Given the description of an element on the screen output the (x, y) to click on. 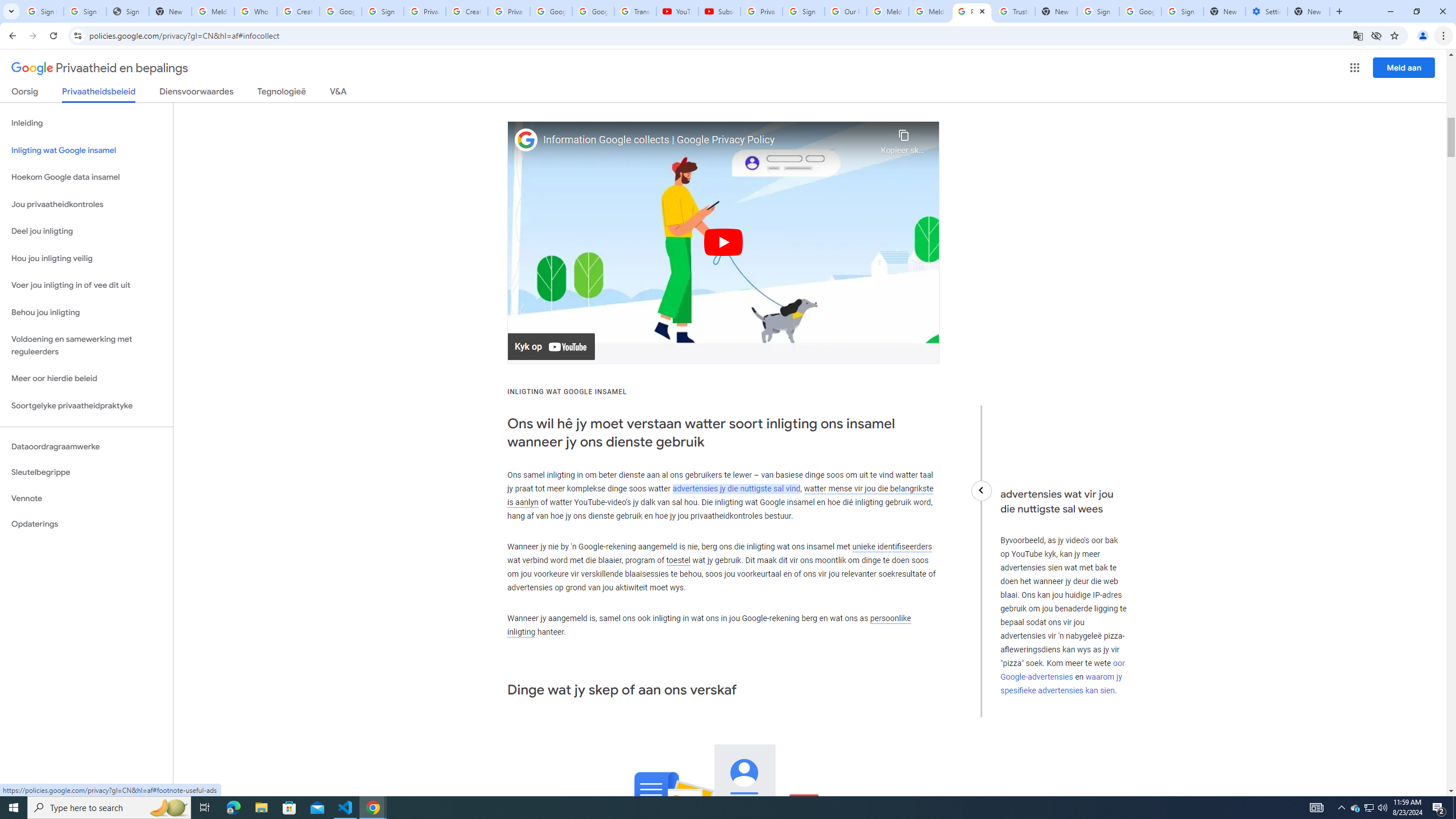
Sleutelbegrippe (86, 472)
Kyk op YouTube (551, 346)
Sign in - Google Accounts (85, 11)
Privaatheidsbeleid (98, 94)
Inligting wat Google insamel (86, 150)
